Given the description of an element on the screen output the (x, y) to click on. 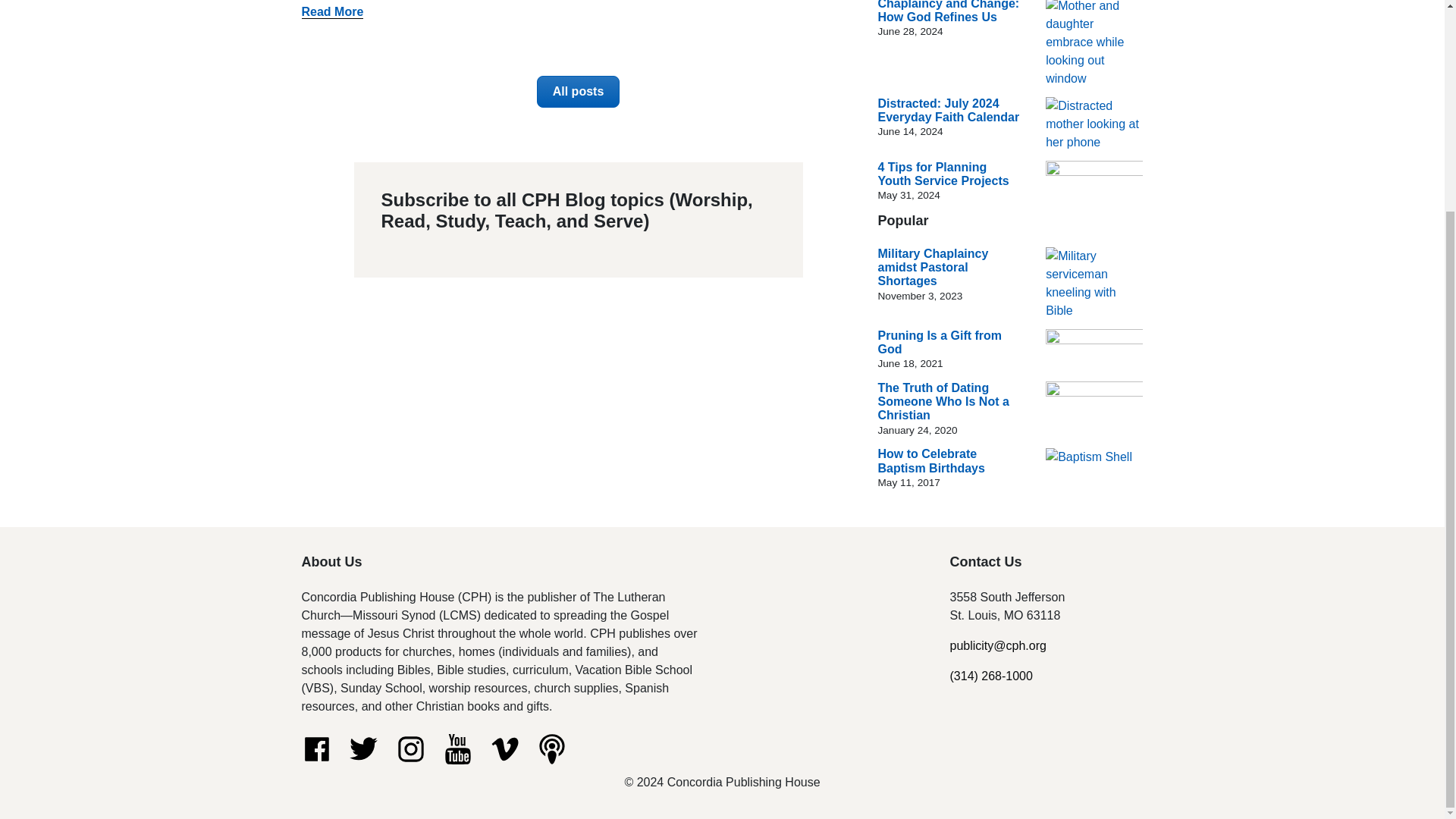
Read More (332, 11)
Distracted: July 2024 Everyday Faith Calendar (948, 110)
All posts (578, 91)
Follow us on Twitter (363, 748)
Follow us on Instagram (411, 748)
Chaplaincy and Change: How God Refines Us (948, 11)
Watch us on YouTube (457, 748)
Follow us on Facebook (316, 748)
Watch us on Vimeo (504, 748)
4 Tips for Planning Youth Service Projects (943, 173)
